Given the description of an element on the screen output the (x, y) to click on. 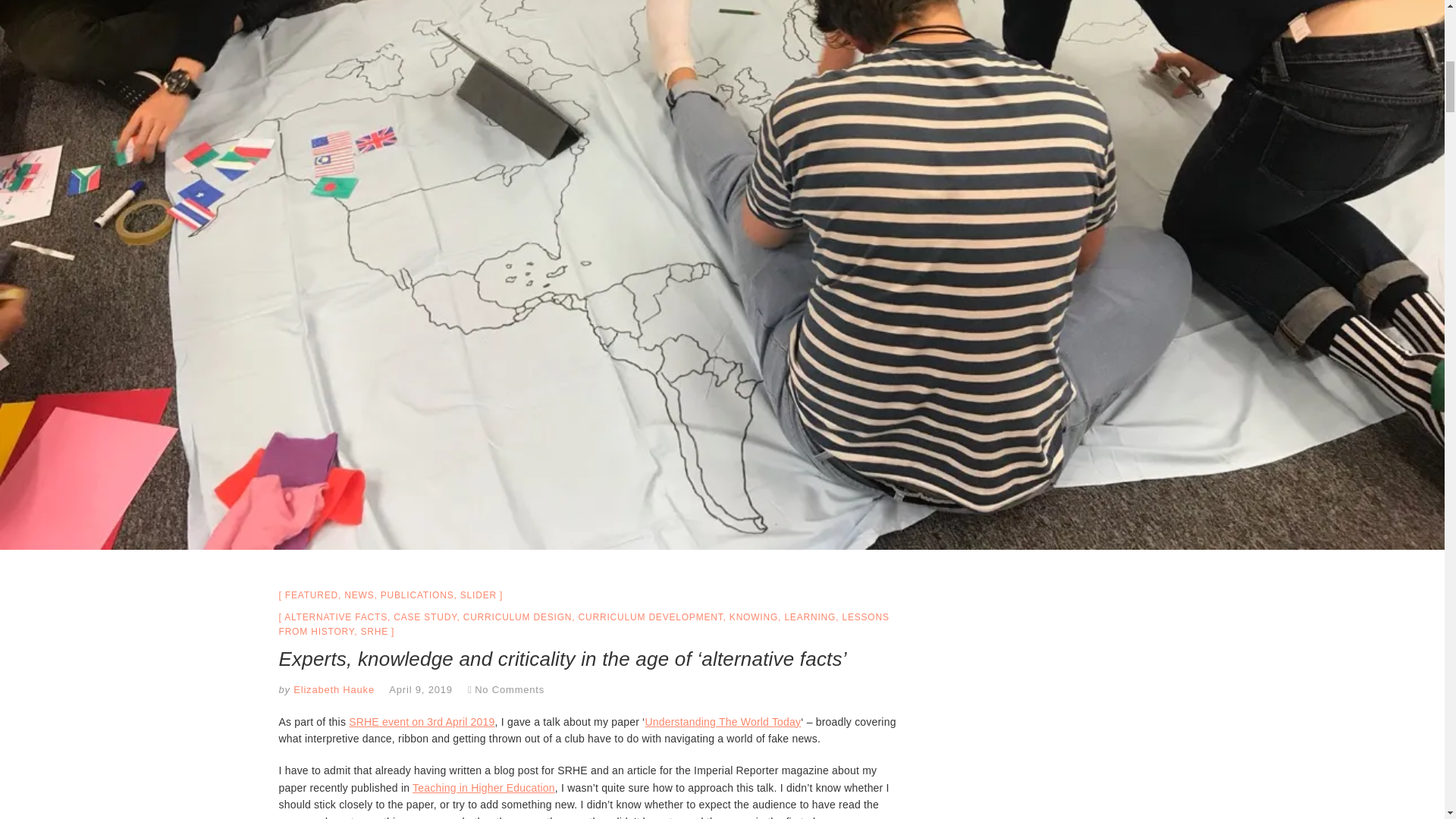
SRHE (373, 631)
KNOWING (753, 616)
CASE STUDY (425, 616)
CURRICULUM DESIGN (517, 616)
SLIDER (478, 594)
April 9, 2019 (419, 689)
LEARNING (809, 616)
LESSONS FROM HISTORY (584, 624)
ALTERNATIVE FACTS (335, 616)
PUBLICATIONS (417, 594)
